Given the description of an element on the screen output the (x, y) to click on. 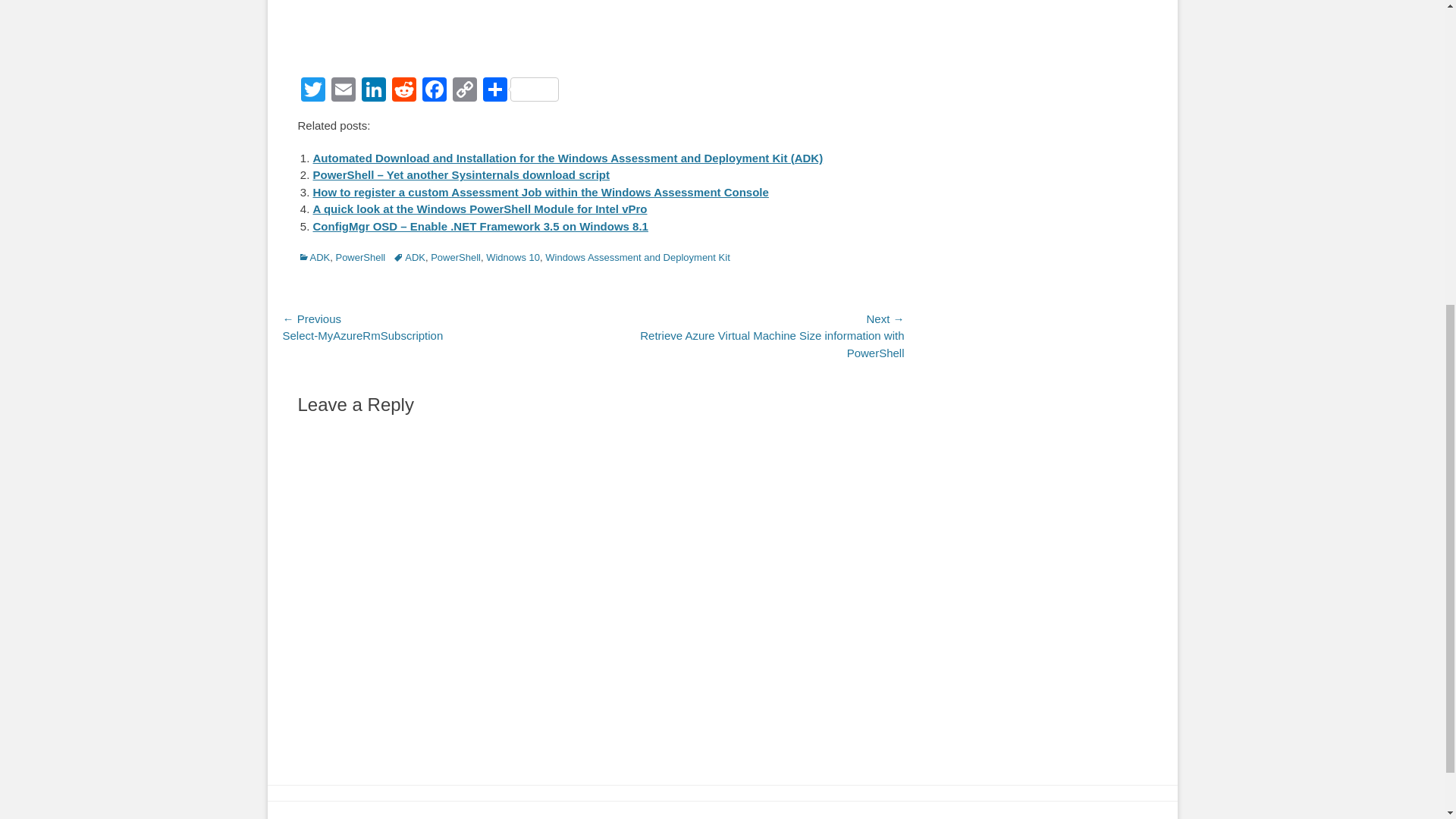
Twitter (312, 90)
PowerShell (455, 256)
A quick look at the Windows PowerShell Module for Intel vPro (479, 208)
Widnows 10 (513, 256)
LinkedIn (373, 90)
ADK (313, 256)
ADK (409, 256)
Reddit (403, 90)
PowerShell (359, 256)
Twitter (312, 90)
Like or Reblog (592, 44)
Email (342, 90)
Copy Link (463, 90)
